Given the description of an element on the screen output the (x, y) to click on. 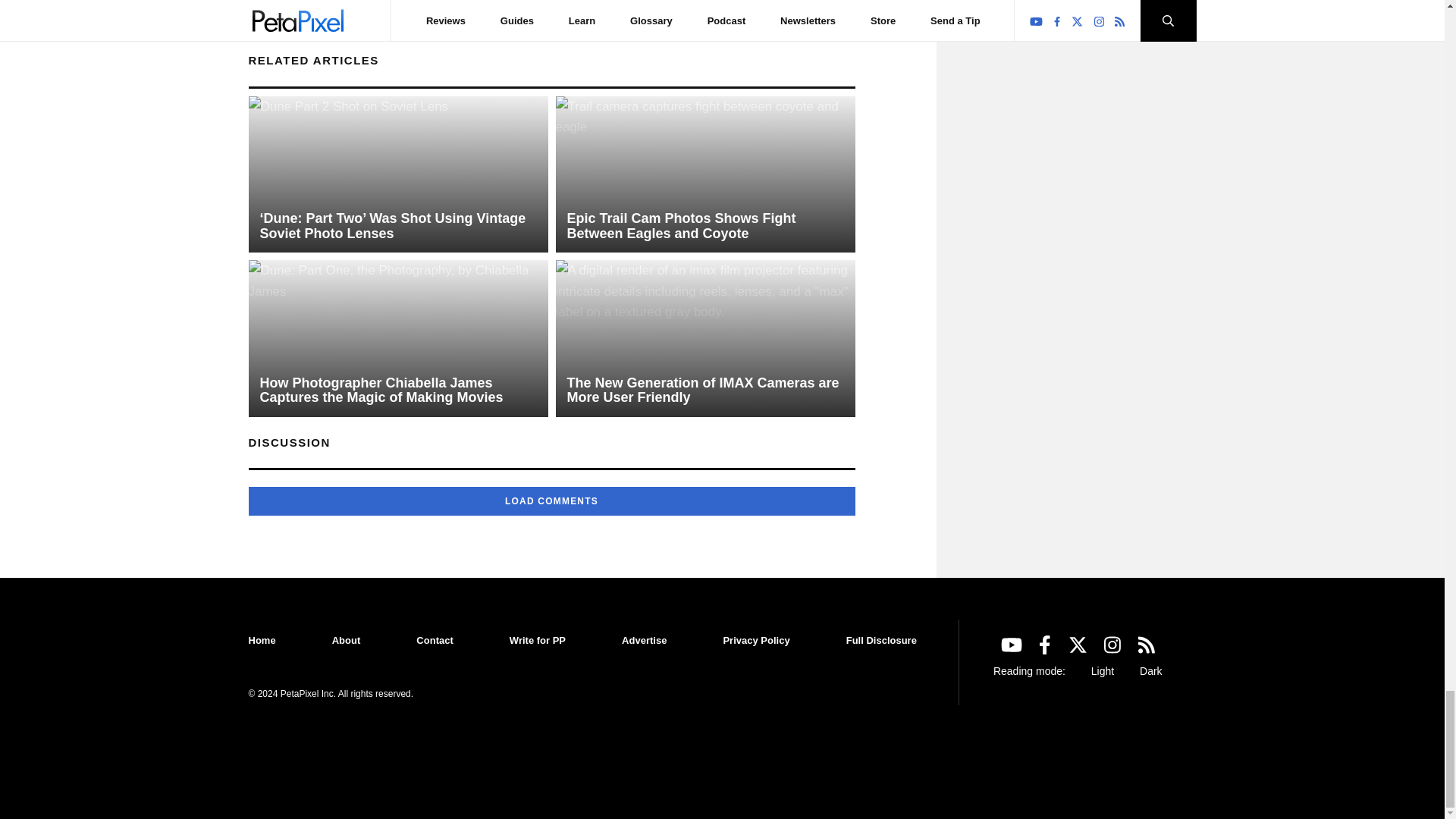
Epic Trail Cam Photos Shows Fight Between Eagles and Coyote (704, 173)
